Given the description of an element on the screen output the (x, y) to click on. 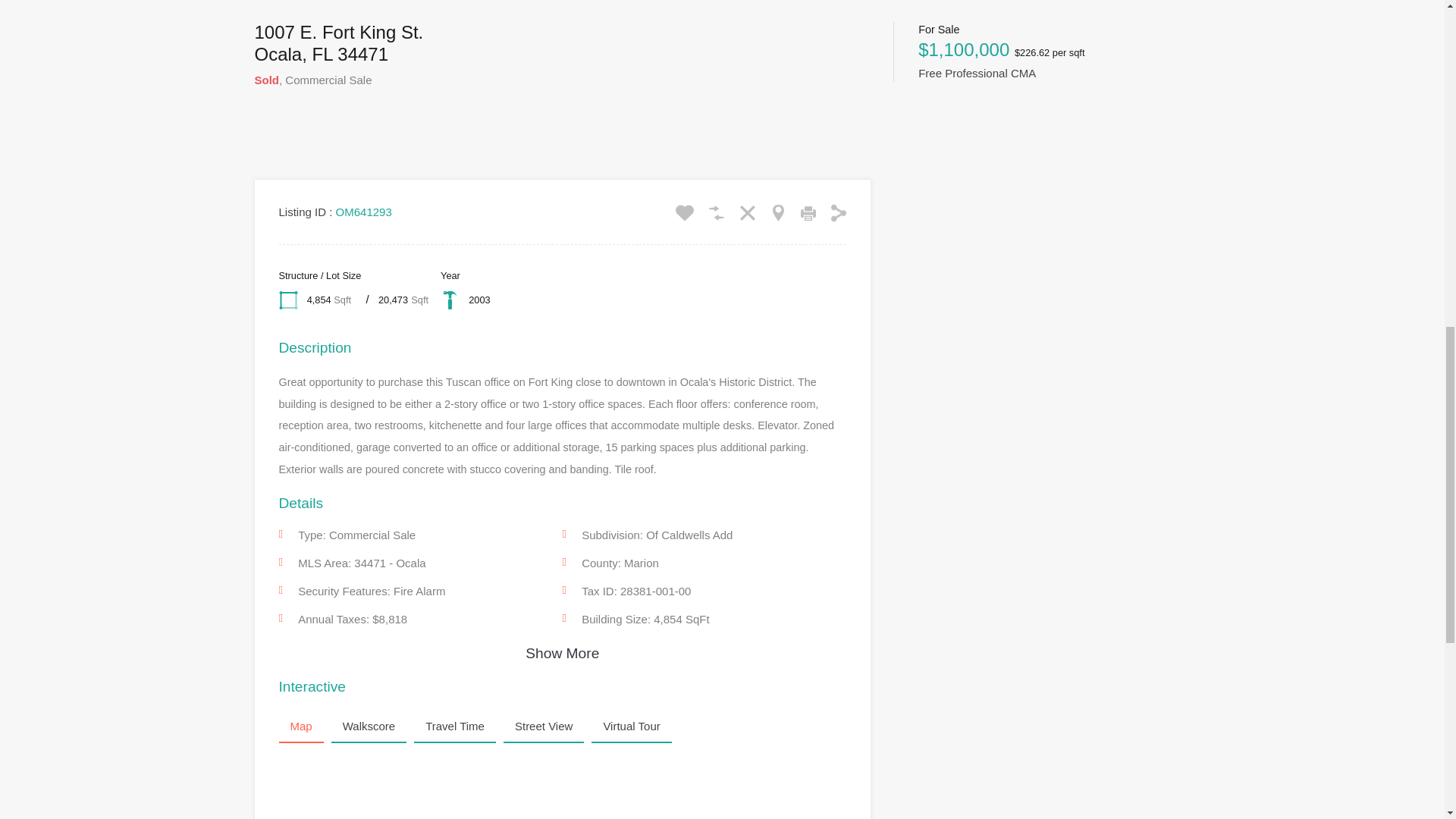
Share (838, 212)
Favorite (684, 212)
